Given the description of an element on the screen output the (x, y) to click on. 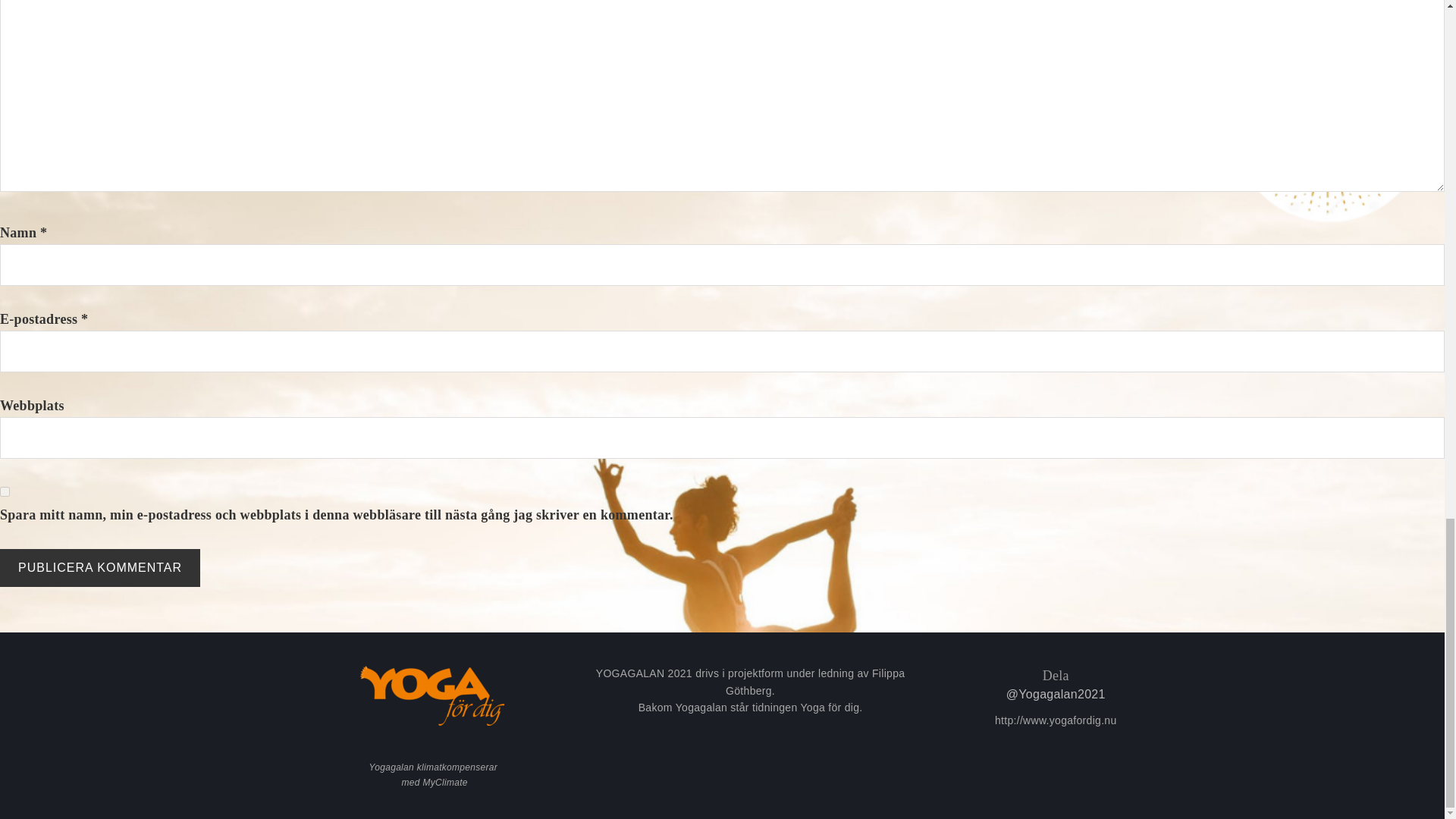
Publicera kommentar (100, 567)
Dela (1055, 675)
Publicera kommentar (100, 567)
yes (5, 491)
